Given the description of an element on the screen output the (x, y) to click on. 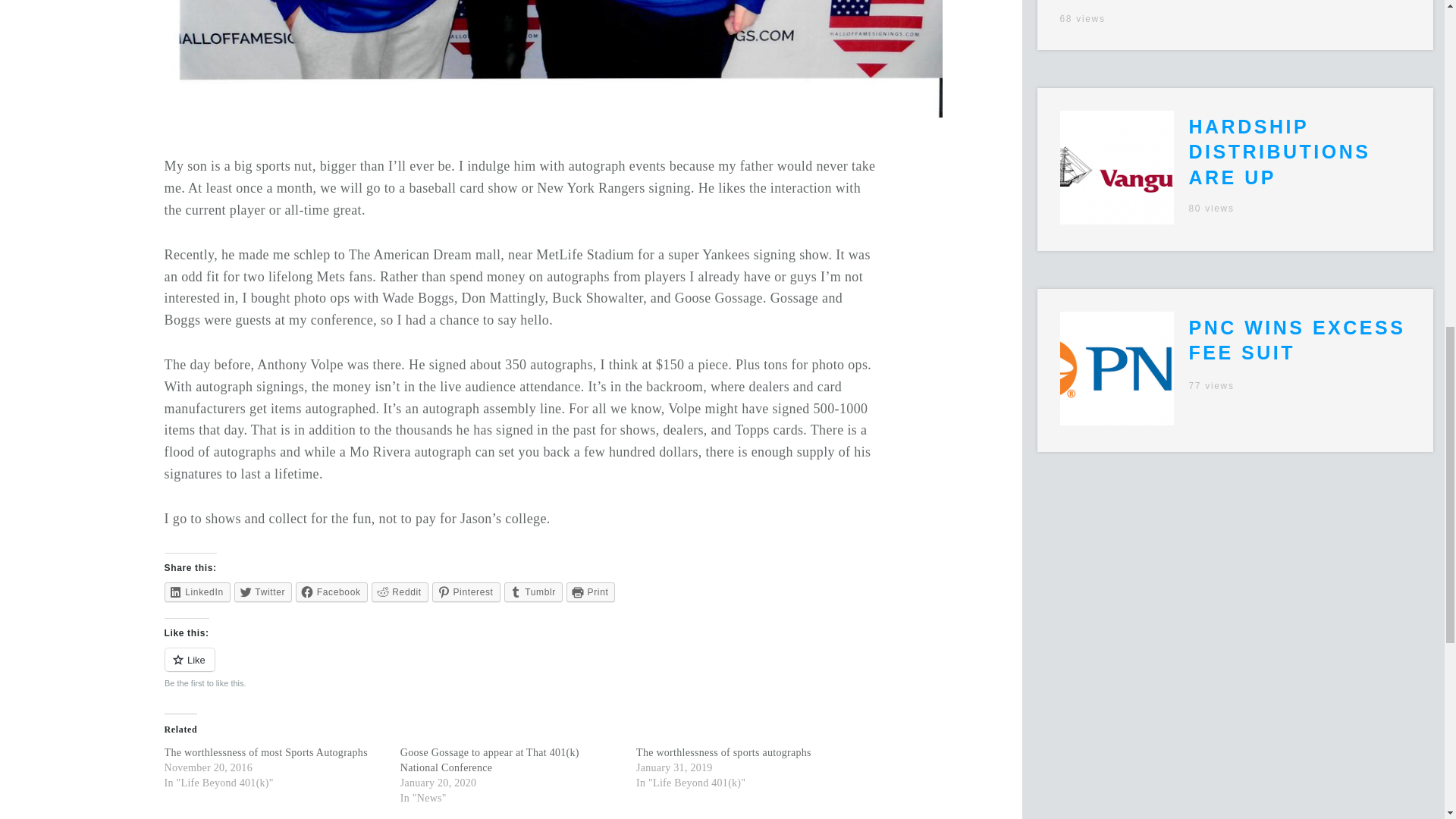
Like or Reblog (521, 668)
Click to share on Facebook (330, 591)
The worthlessness of sports autographs (723, 752)
Click to share on Reddit (399, 591)
Click to share on LinkedIn (197, 591)
Click to share on Tumblr (532, 591)
The worthlessness of most Sports Autographs (266, 752)
Click to print (590, 591)
Click to share on Twitter (263, 591)
Click to share on Pinterest (466, 591)
